Given the description of an element on the screen output the (x, y) to click on. 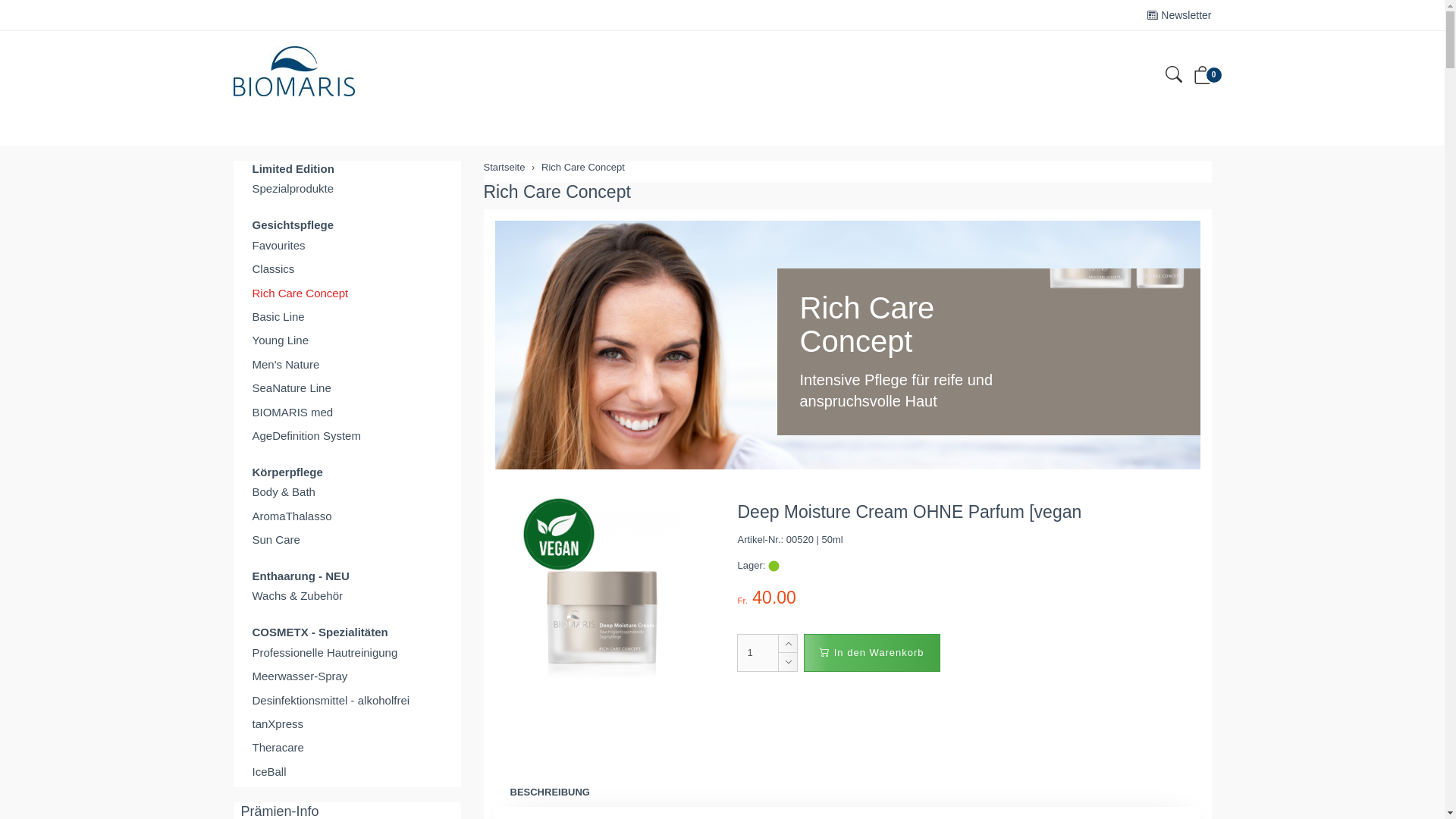
0 Element type: text (1202, 78)
Rich Care Concept Element type: text (347, 292)
In den Warenkorb Element type: text (871, 652)
Theracare Element type: text (347, 747)
Spezialprodukte Element type: text (347, 188)
Rich Care Concept Element type: text (556, 191)
Basic Line Element type: text (347, 316)
Men's Nature Element type: text (347, 364)
Suche Element type: hover (1172, 76)
AromaThalasso Element type: text (347, 515)
IceBall Element type: text (347, 771)
Sun Care Element type: text (347, 539)
BESCHREIBUNG Element type: text (549, 792)
Meerwasser-Spray Element type: text (347, 675)
Artikel an Lager Element type: hover (773, 565)
tanXpress Element type: text (347, 723)
Startseite Element type: text (504, 166)
Promotion! Element type: hover (558, 534)
Professionelle Hautreinigung Element type: text (347, 652)
Menge Element type: hover (757, 652)
AgeDefinition System Element type: text (347, 435)
Favourites Element type: text (347, 245)
Desinfektionsmittel - alkoholfrei Element type: text (347, 700)
Rich Care Concept Element type: text (582, 166)
Body & Bath Element type: text (347, 491)
Classics Element type: text (347, 268)
Newsletter Element type: text (1179, 15)
SeaNature Line Element type: text (347, 387)
BIOMARIS med Element type: text (347, 411)
Young Line Element type: text (347, 339)
